Given the description of an element on the screen output the (x, y) to click on. 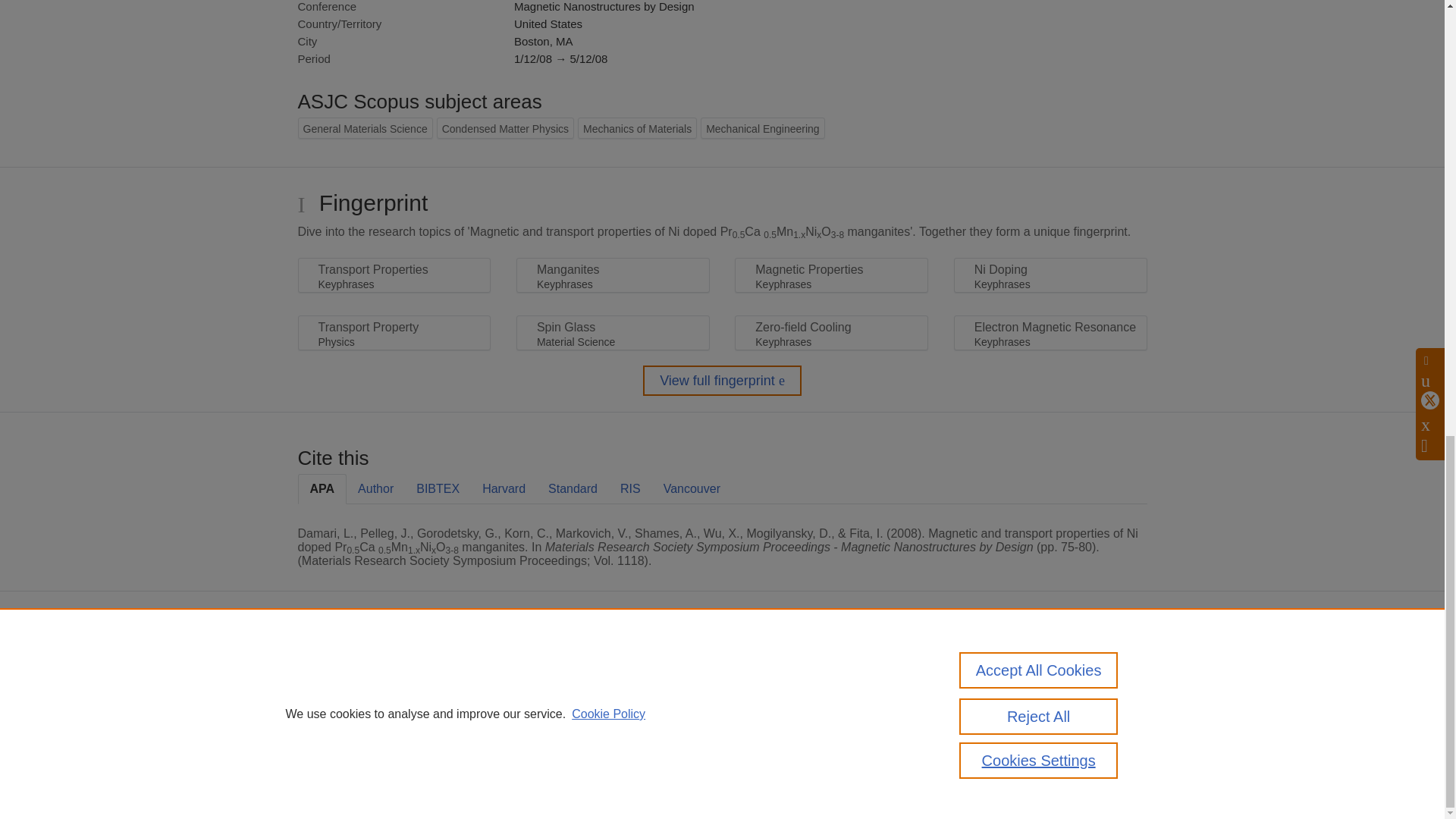
View full fingerprint (722, 380)
